Given the description of an element on the screen output the (x, y) to click on. 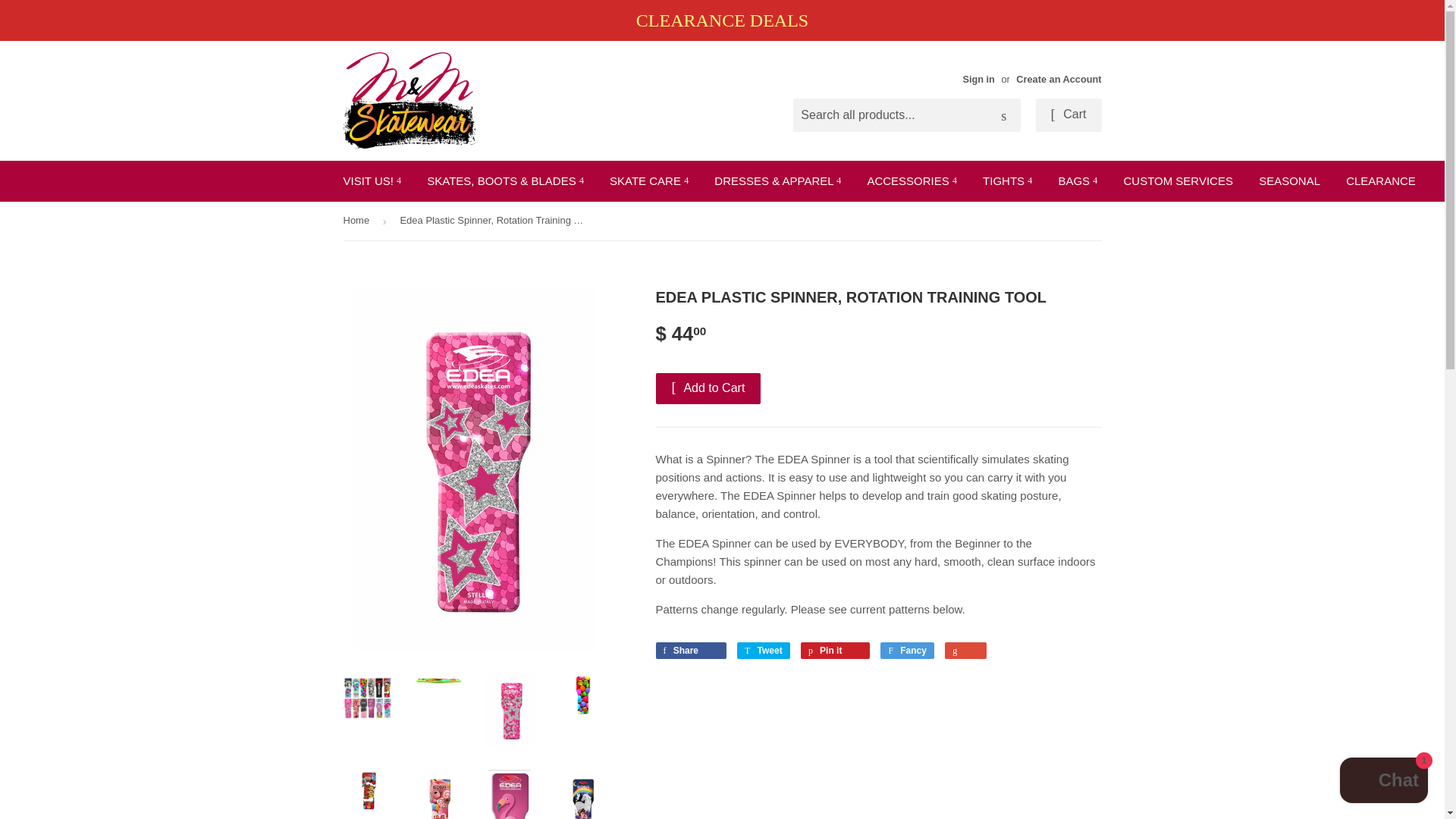
Search (1003, 115)
ACCESSORIES (912, 180)
Shopify online store chat (1383, 781)
Sign in (978, 79)
Cart (1068, 114)
Create an Account (1058, 79)
VISIT US! (372, 180)
TIGHTS (1007, 180)
SKATE CARE (649, 180)
